Given the description of an element on the screen output the (x, y) to click on. 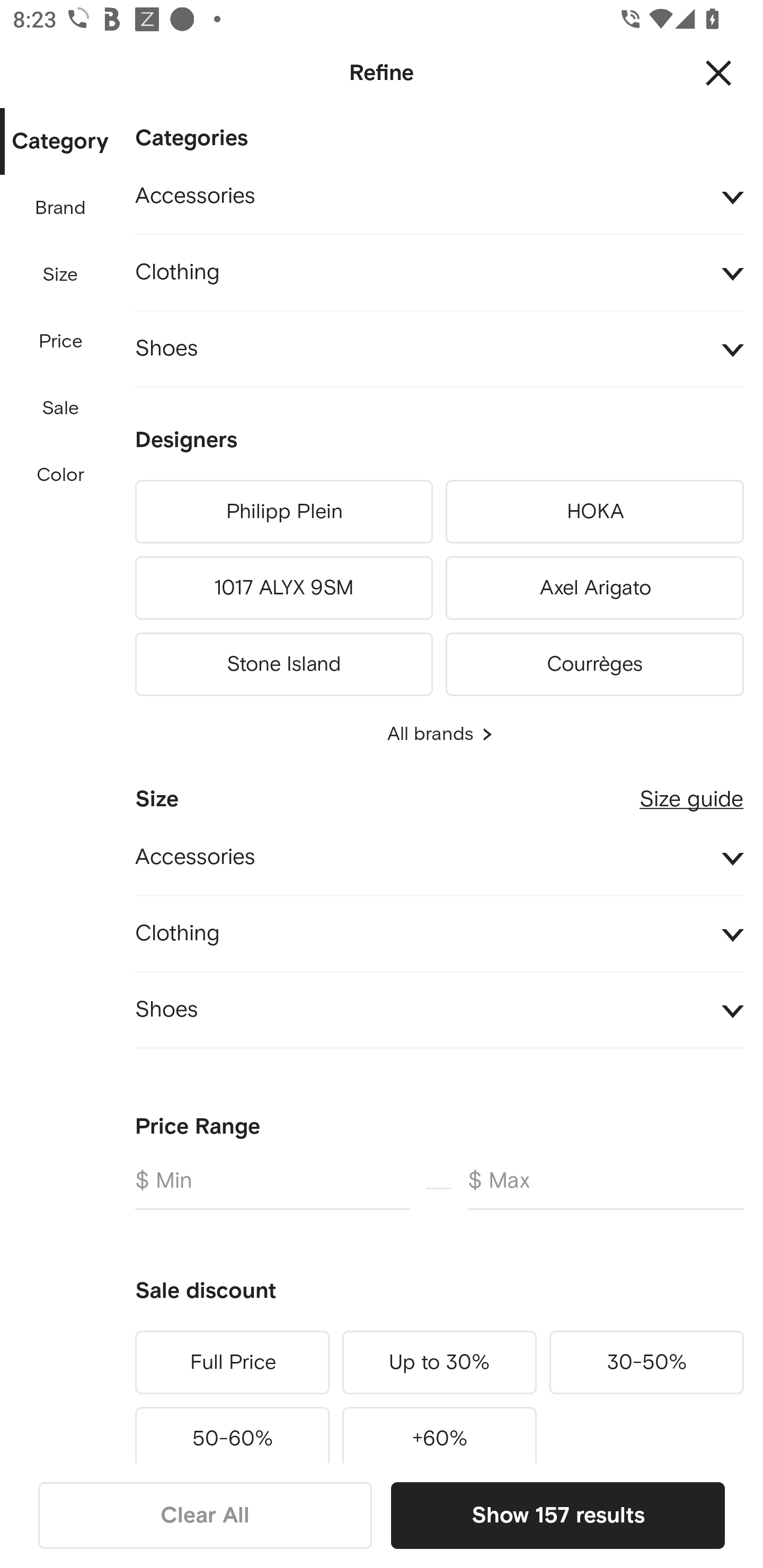
Category (60, 141)
Accessories (439, 196)
Brand (60, 208)
Clothing (439, 272)
Size (60, 274)
Price (60, 342)
Shoes (439, 348)
Sale (60, 408)
Color (60, 475)
Philipp Plein (283, 511)
HOKA (594, 511)
1017 ALYX 9SM (283, 587)
Axel Arigato (594, 587)
Stone Island (283, 660)
Courrèges (594, 660)
All brands (439, 734)
Size guide (691, 792)
Accessories (439, 857)
Clothing (439, 933)
Shoes (439, 1010)
$ Min (272, 1187)
$ Max (605, 1187)
Full Price (232, 1362)
Up to 30% (439, 1362)
30-50% (646, 1362)
50-60% (232, 1431)
+60% (439, 1431)
Clear All (205, 1515)
Show 157 results (557, 1515)
